Given the description of an element on the screen output the (x, y) to click on. 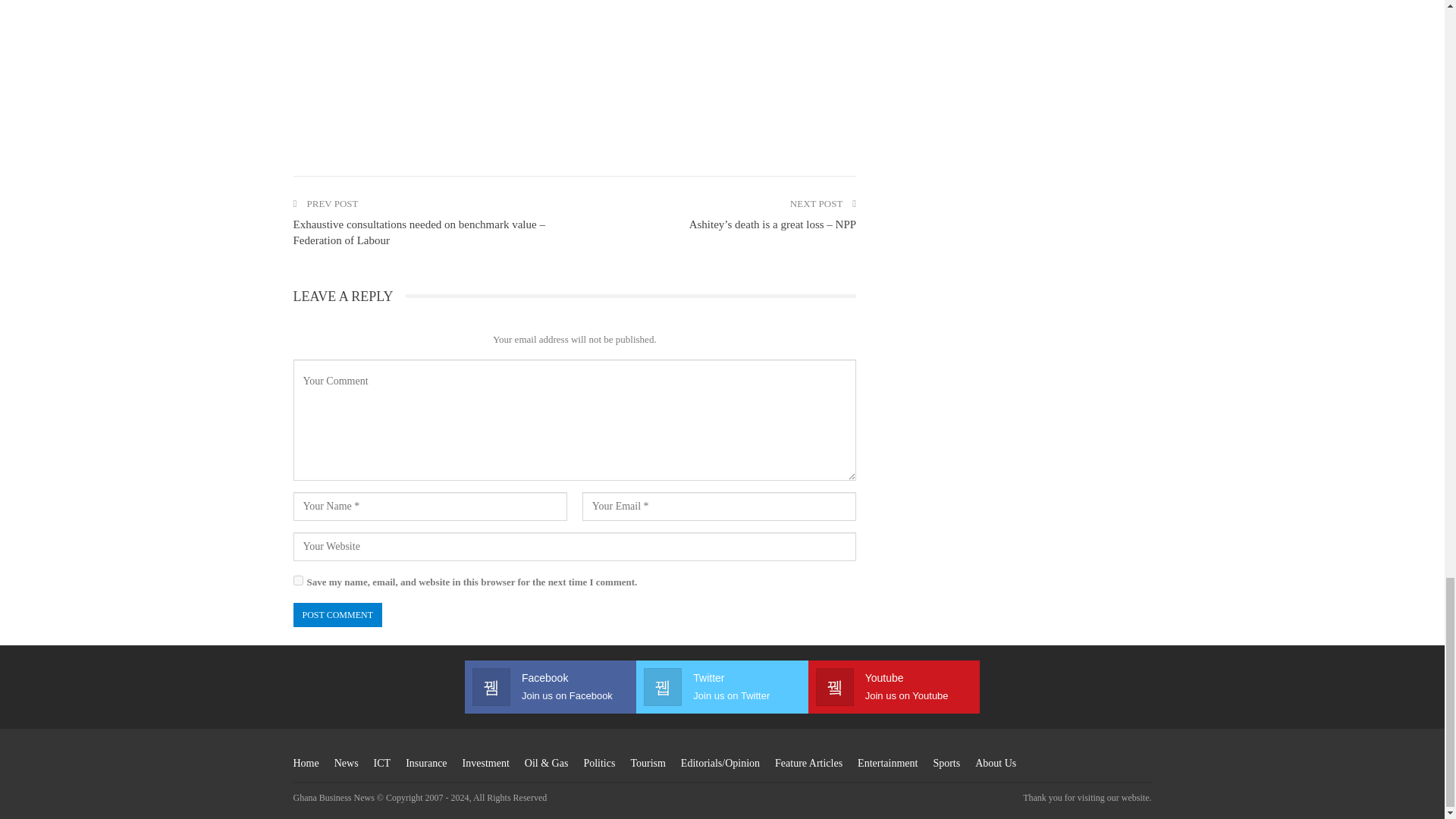
Post Comment (336, 614)
Post Comment (336, 614)
yes (297, 580)
